Given the description of an element on the screen output the (x, y) to click on. 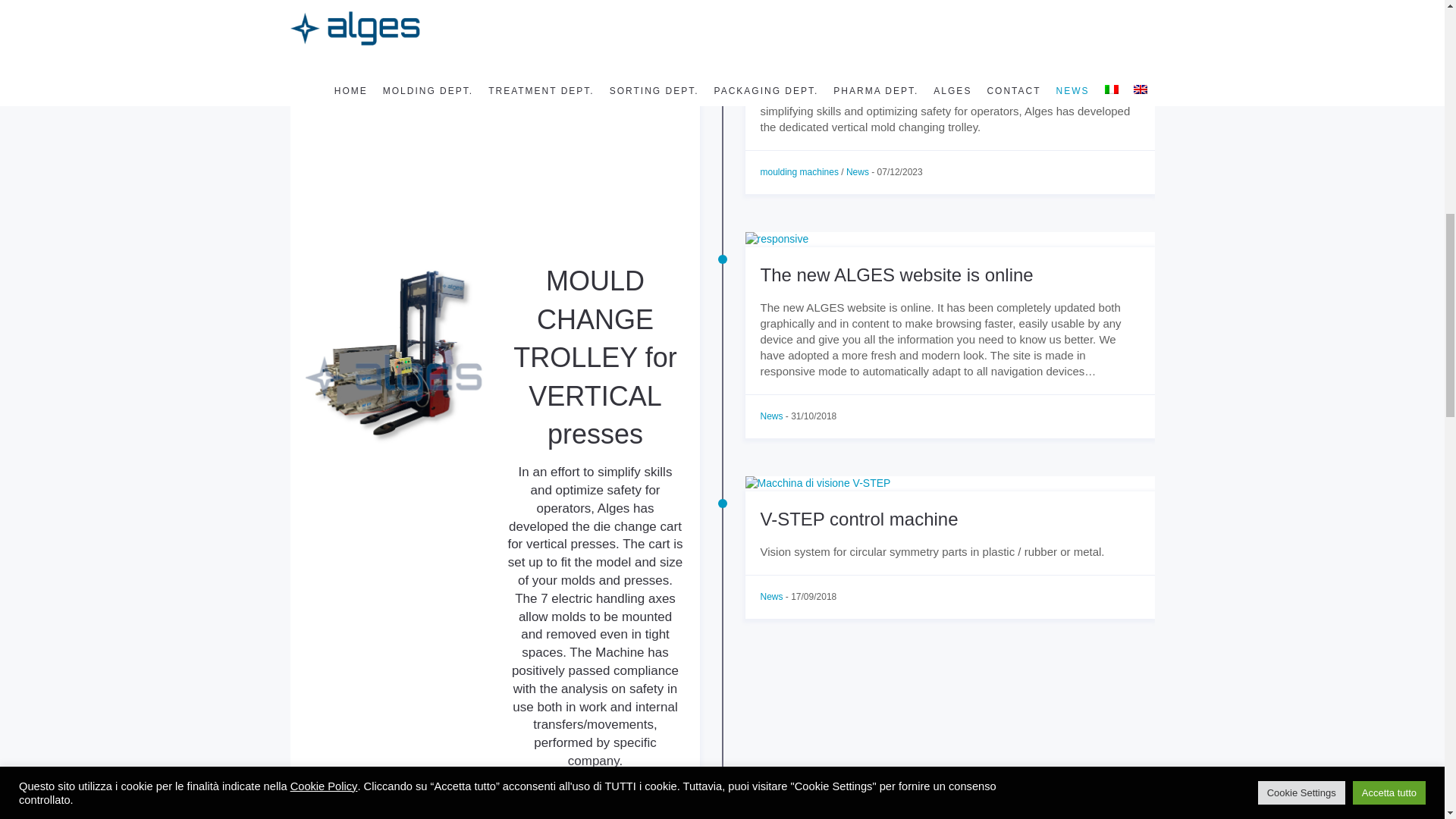
Carrello per cambio stampi verticali (949, 4)
News (857, 172)
moulding machines (799, 172)
MOULD CHANGE TROLLEY for VERTICAL presses Alges (494, 155)
News (771, 416)
MOULD CHANGE TROLLEY for VERTICAL presses (482, 18)
The new ALGES website is online (896, 274)
MOULD CHANGE TROLLEY for VERTICAL presses (937, 50)
